Given the description of an element on the screen output the (x, y) to click on. 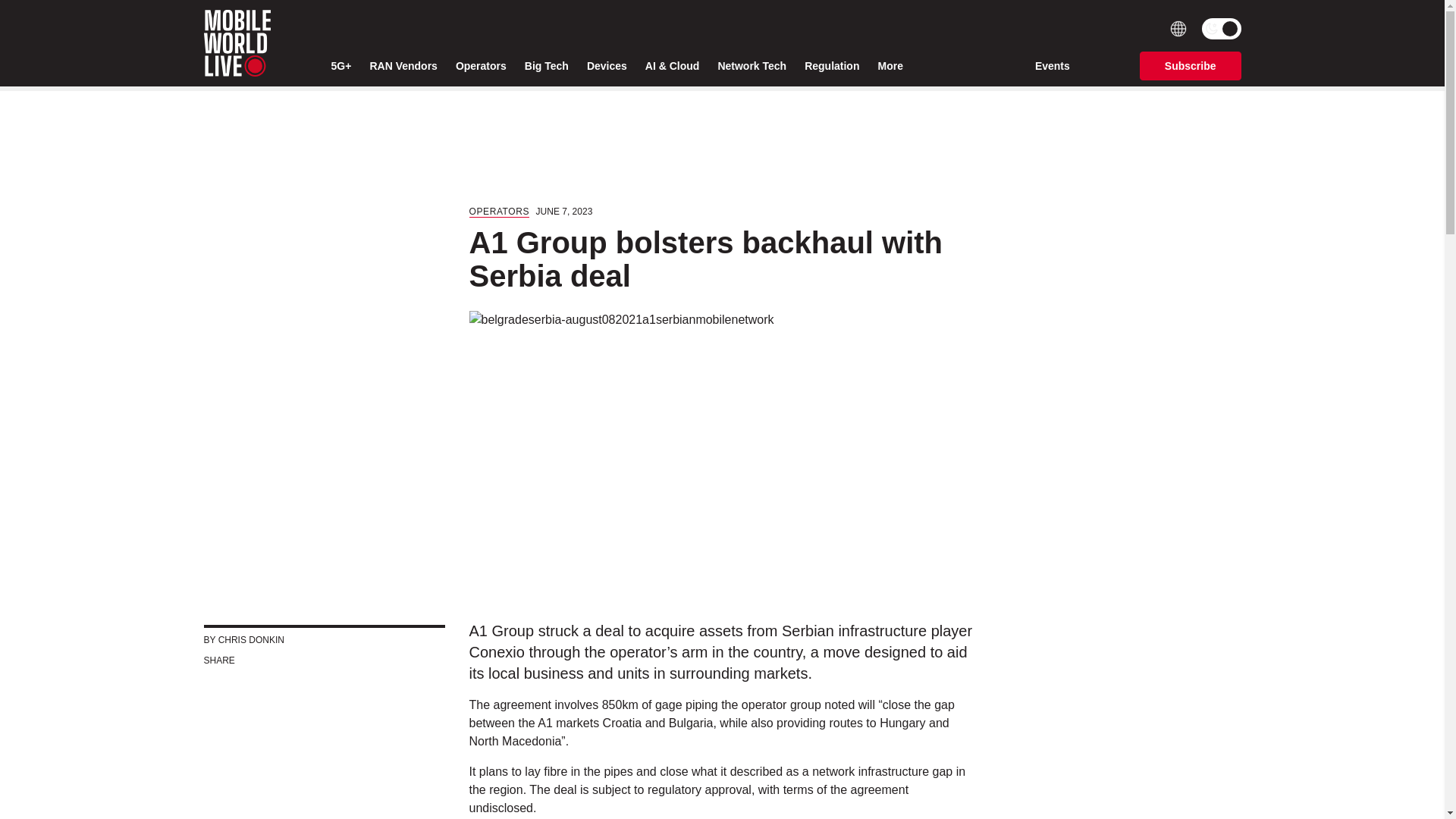
Devices (606, 65)
Operators (480, 65)
Big Tech (546, 65)
RAN Vendors (402, 65)
Events (1052, 65)
Network Tech (751, 65)
Subscribe (1190, 65)
Regulation (832, 65)
